Given the description of an element on the screen output the (x, y) to click on. 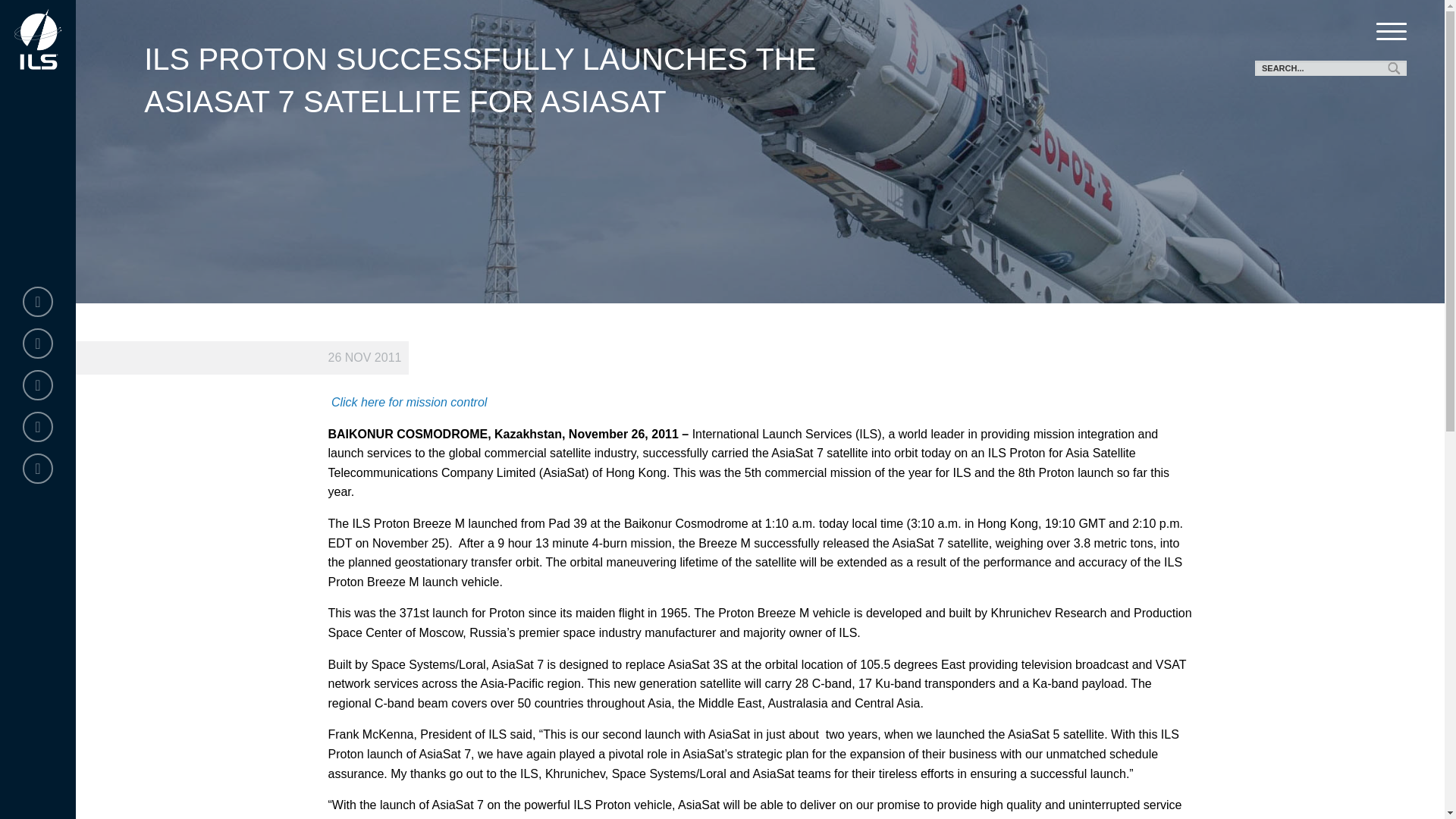
Search (1395, 68)
Search (1395, 68)
 Click here for mission control (406, 401)
Search (1395, 68)
Search for: (1330, 68)
